Given the description of an element on the screen output the (x, y) to click on. 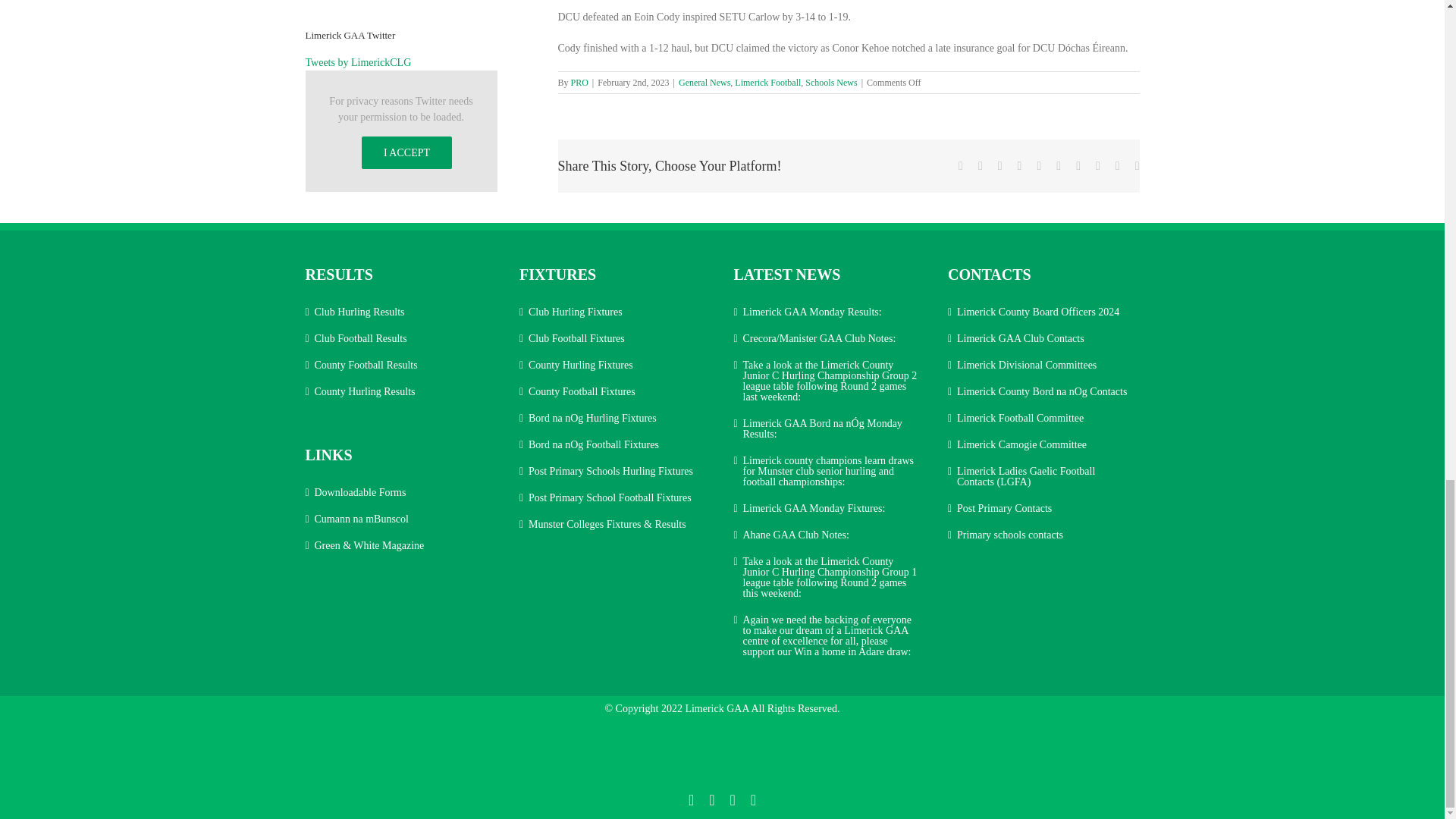
Posts by PRO (579, 81)
